Given the description of an element on the screen output the (x, y) to click on. 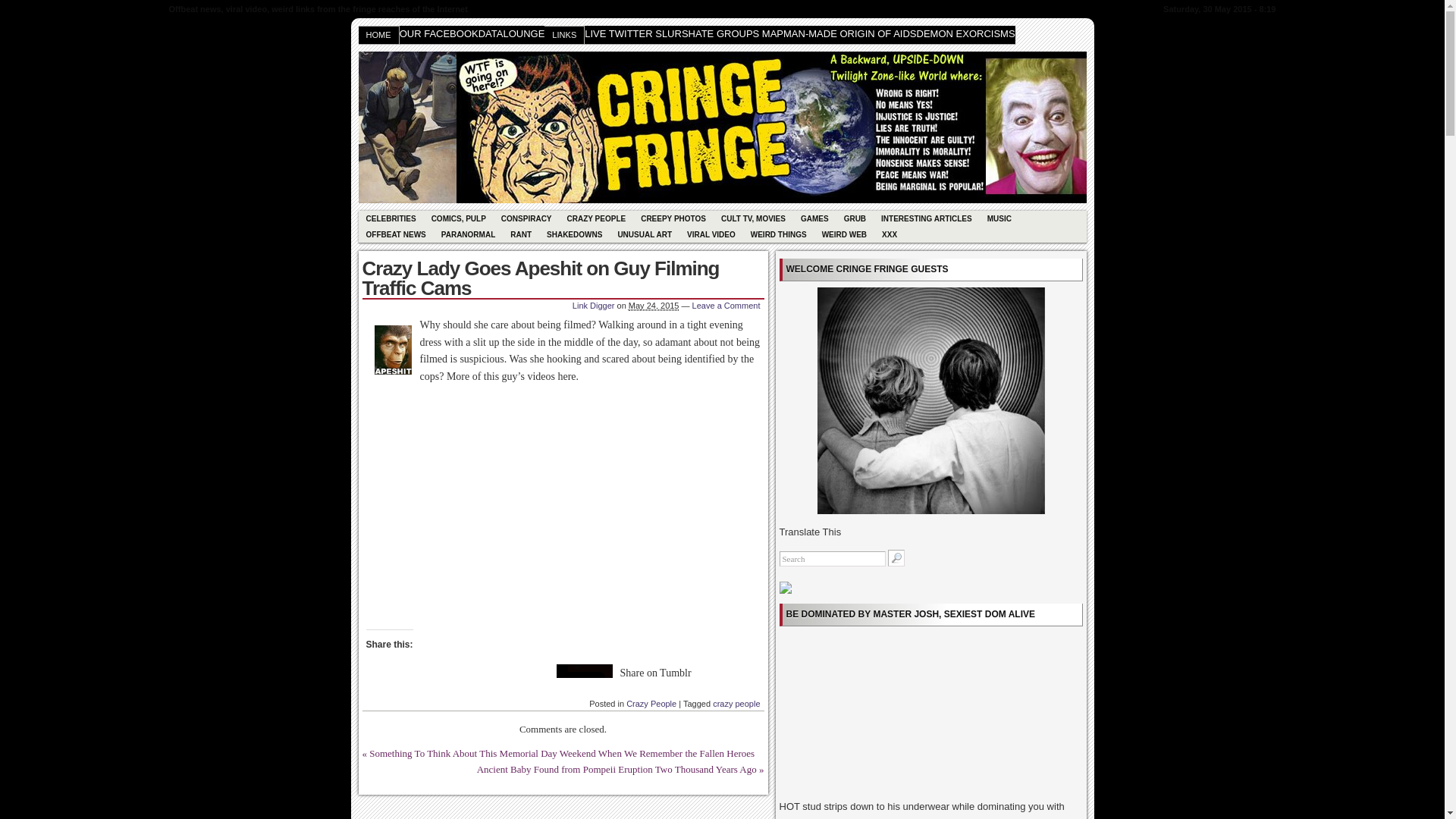
CONSPIRACY (526, 218)
UNUSUAL ART (644, 234)
CULT TV, MOVIES (753, 218)
HOME (378, 34)
May 24, 2015 - 2:58 pm (653, 306)
INTERESTING ARTICLES (926, 218)
PARANORMAL (467, 234)
Leave a Comment (726, 305)
CELEBRITIES (390, 218)
